Given the description of an element on the screen output the (x, y) to click on. 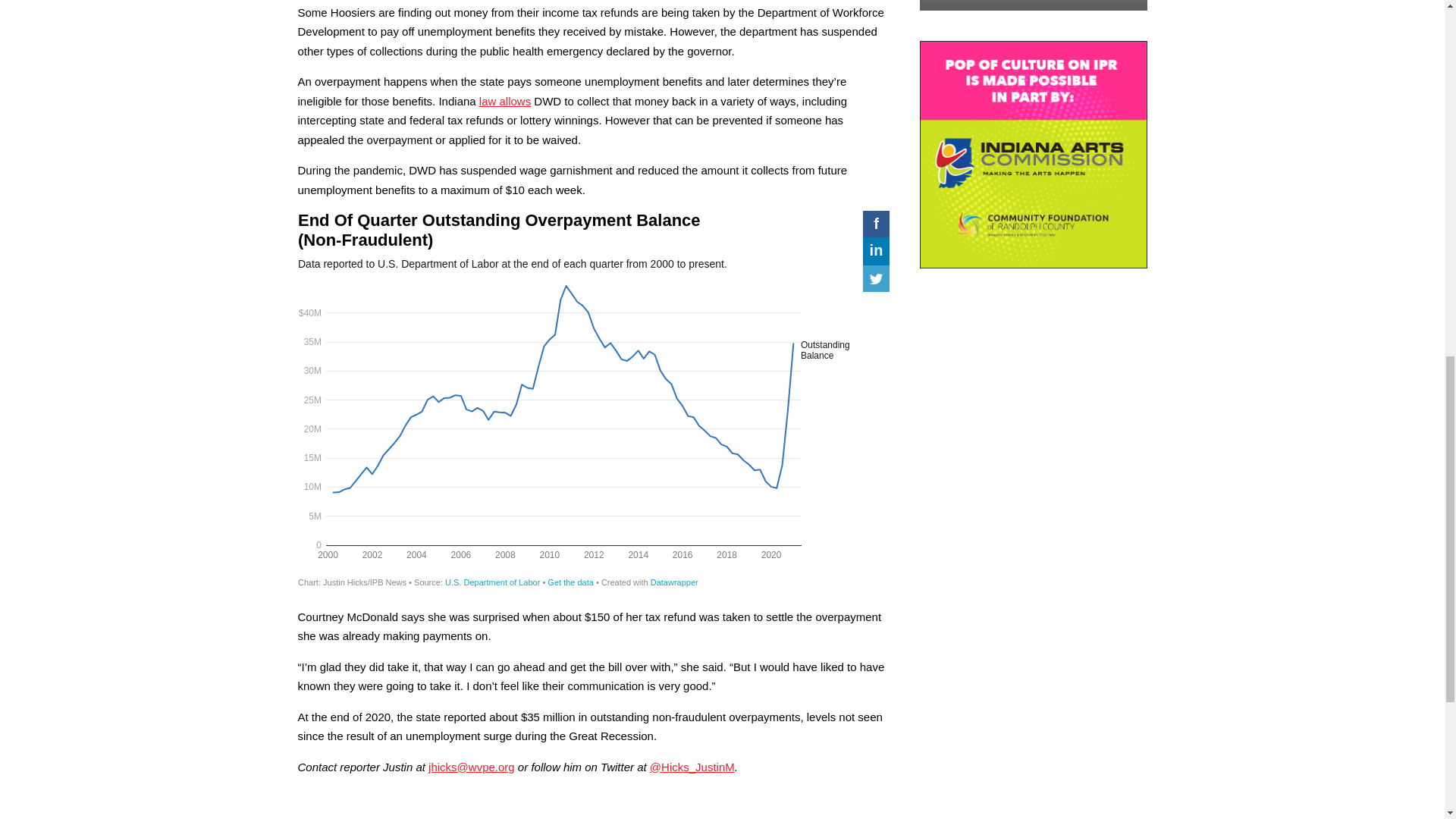
Support (1032, 5)
law allows (505, 101)
